Given the description of an element on the screen output the (x, y) to click on. 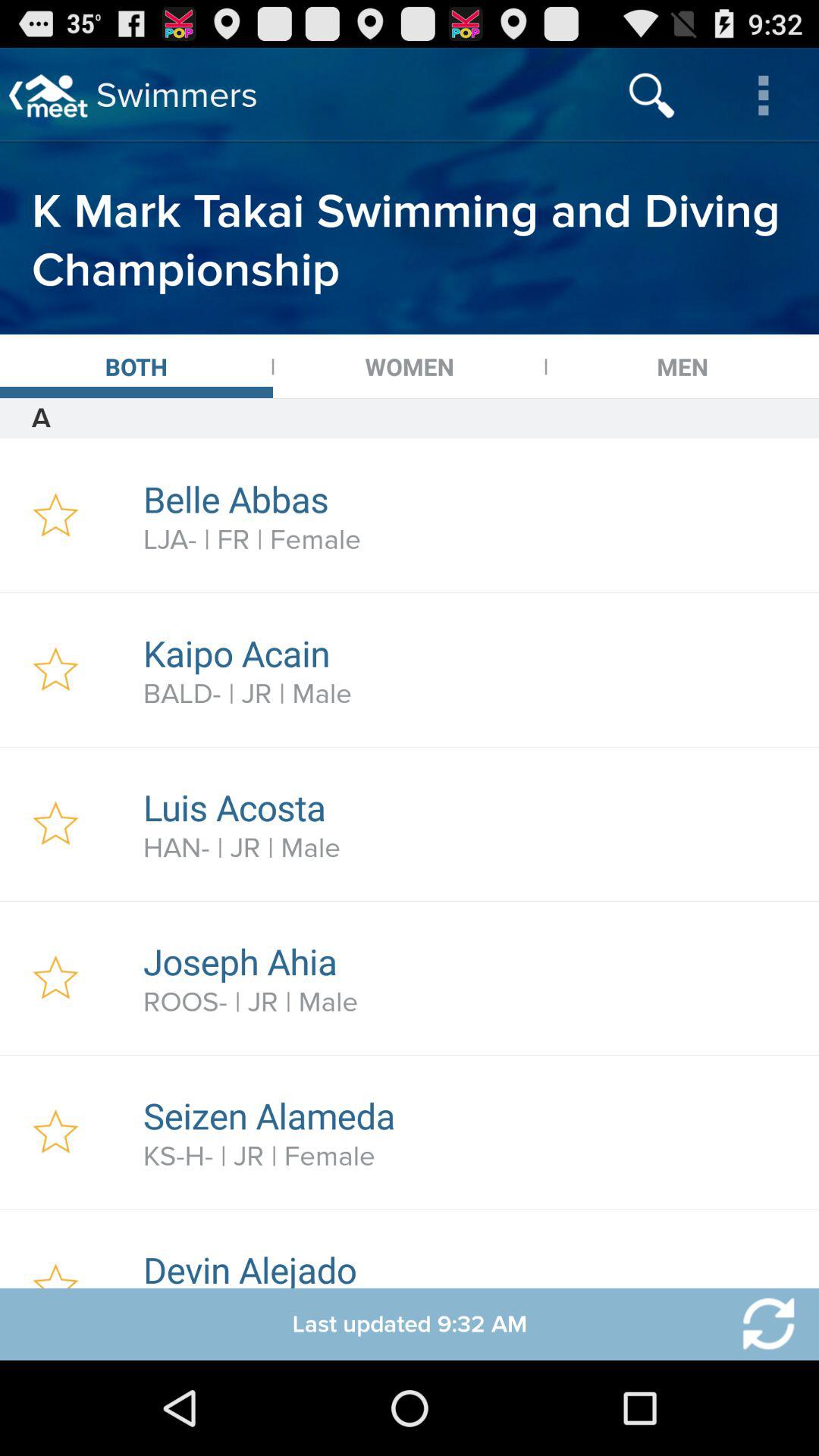
update option (759, 1324)
